Given the description of an element on the screen output the (x, y) to click on. 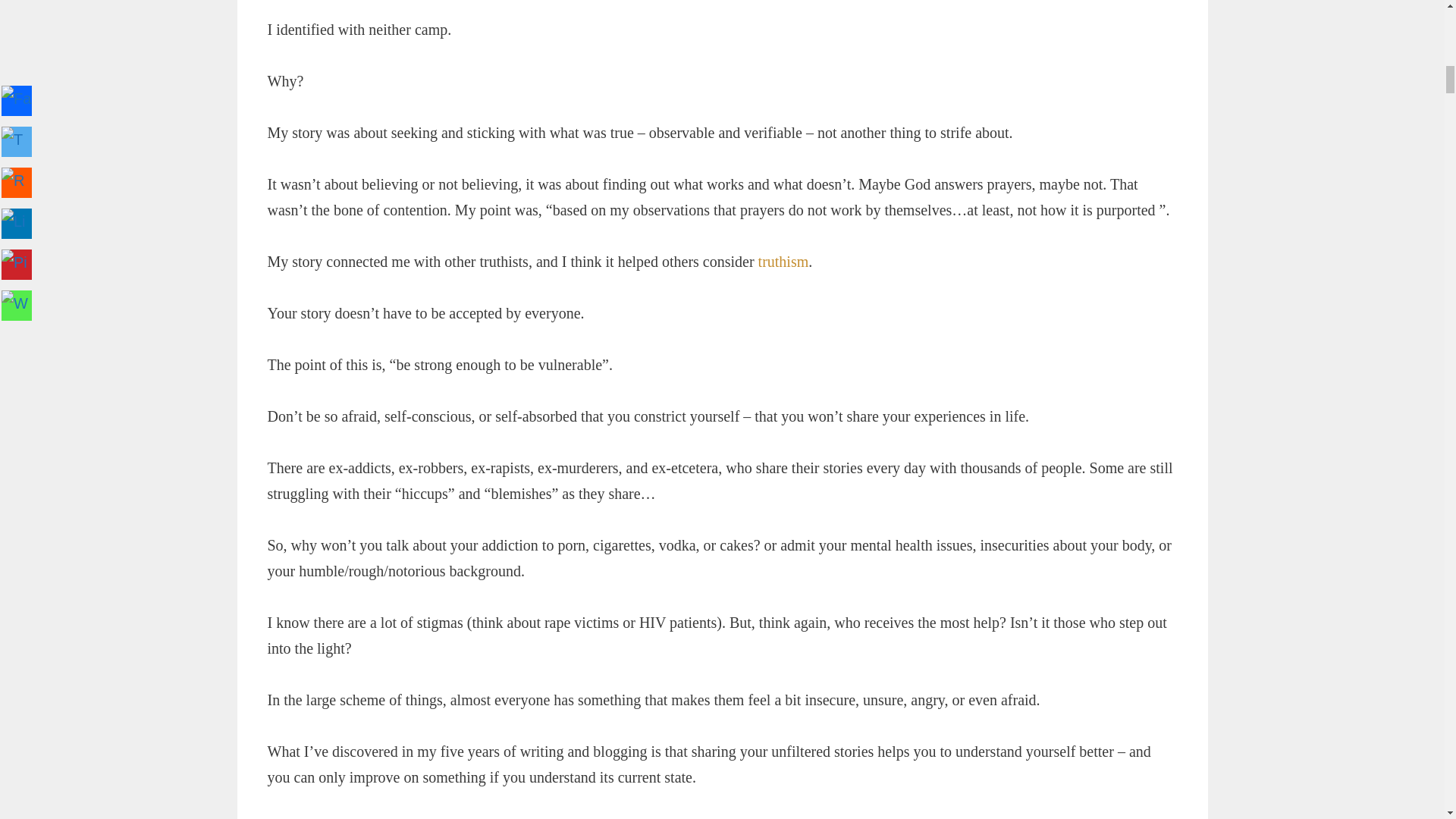
truthism (783, 261)
